Given the description of an element on the screen output the (x, y) to click on. 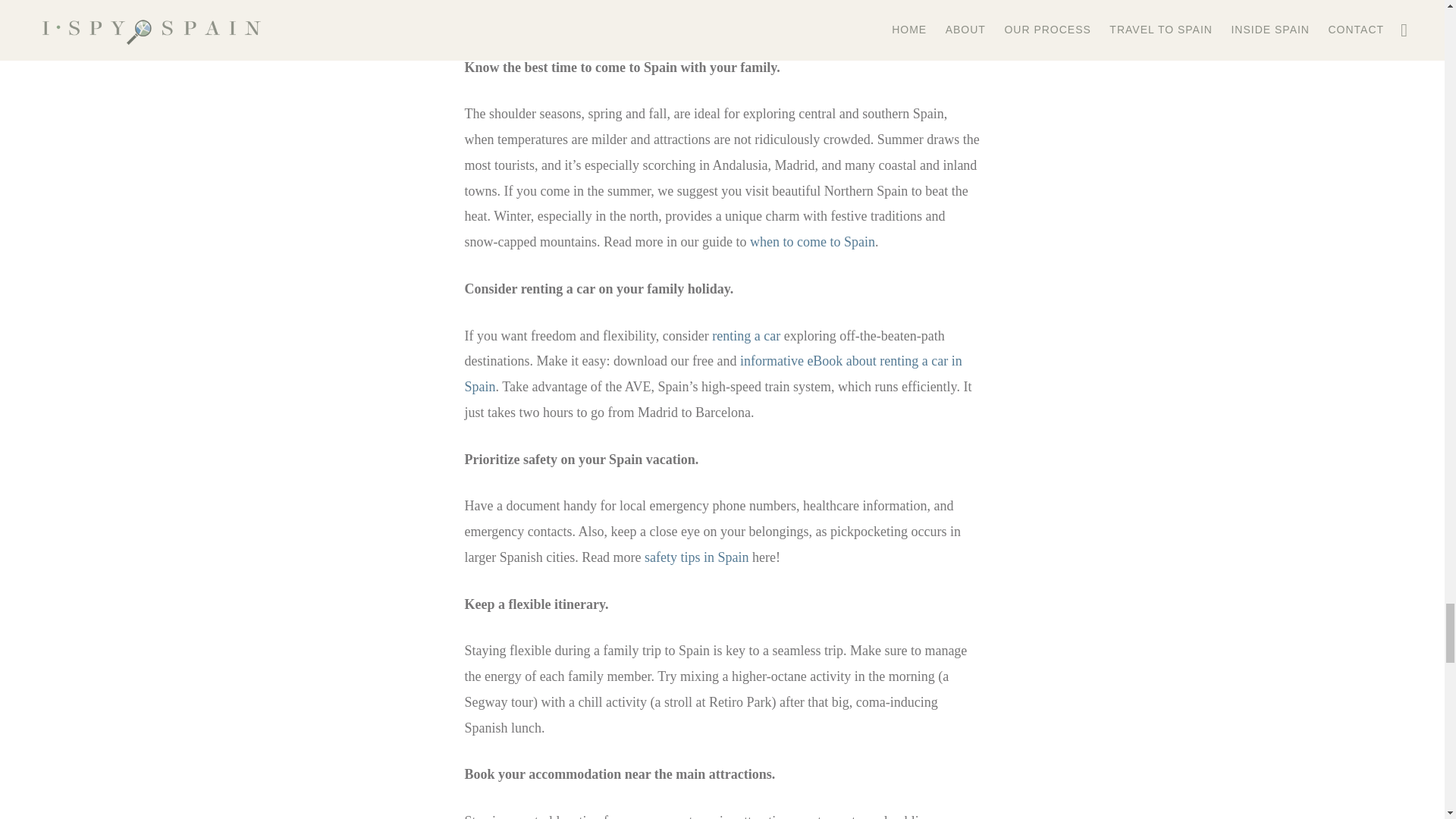
renting a car (745, 335)
safety tips in Spain (697, 557)
when to come to Spain (812, 241)
informative eBook about renting a car in Spain (712, 372)
